Given the description of an element on the screen output the (x, y) to click on. 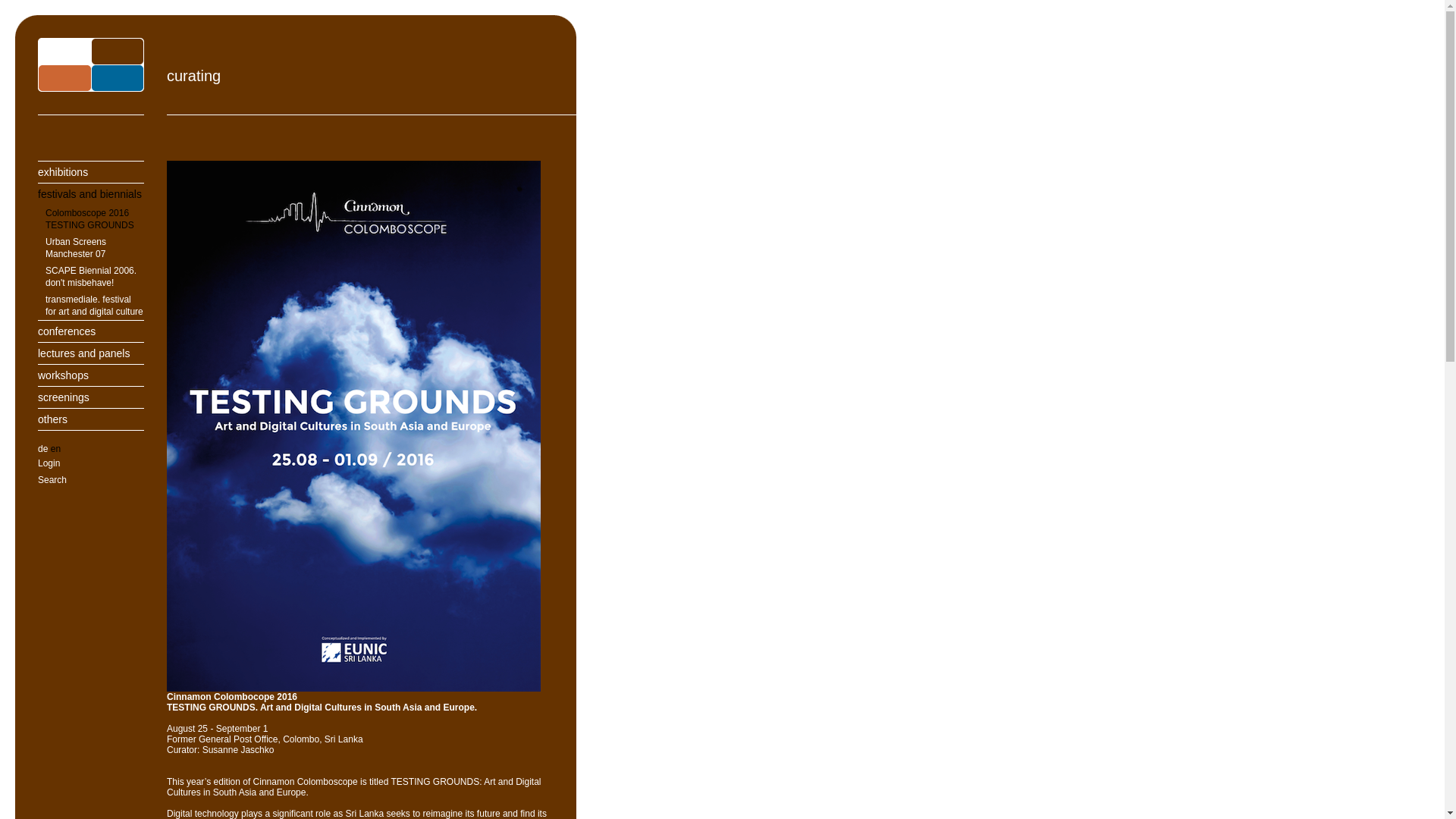
exhibitions (90, 171)
workshops (90, 374)
Login (90, 463)
lectures and panels (90, 352)
SCAPE Biennial 2006. don't misbehave! (90, 276)
Search (90, 479)
screenings (90, 396)
Colomboscope 2016 TESTING GROUNDS (90, 218)
festivals and biennials (90, 193)
Urban Screens Manchester 07 (90, 247)
others (90, 418)
conferences (90, 331)
transmediale. festival for art and digital culture (90, 305)
